Given the description of an element on the screen output the (x, y) to click on. 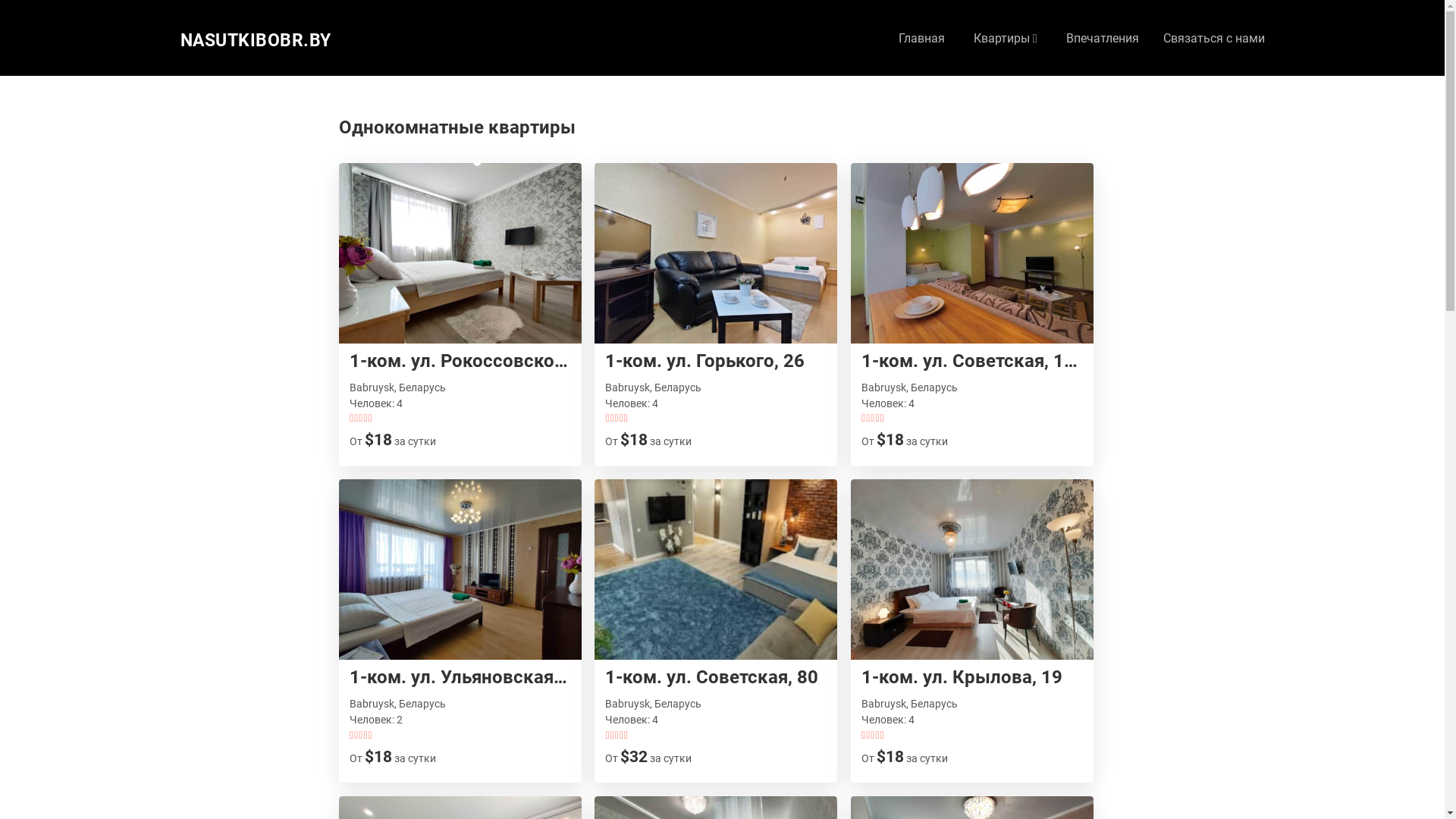
NASUTKIBOBR.BY Element type: text (255, 40)
